Given the description of an element on the screen output the (x, y) to click on. 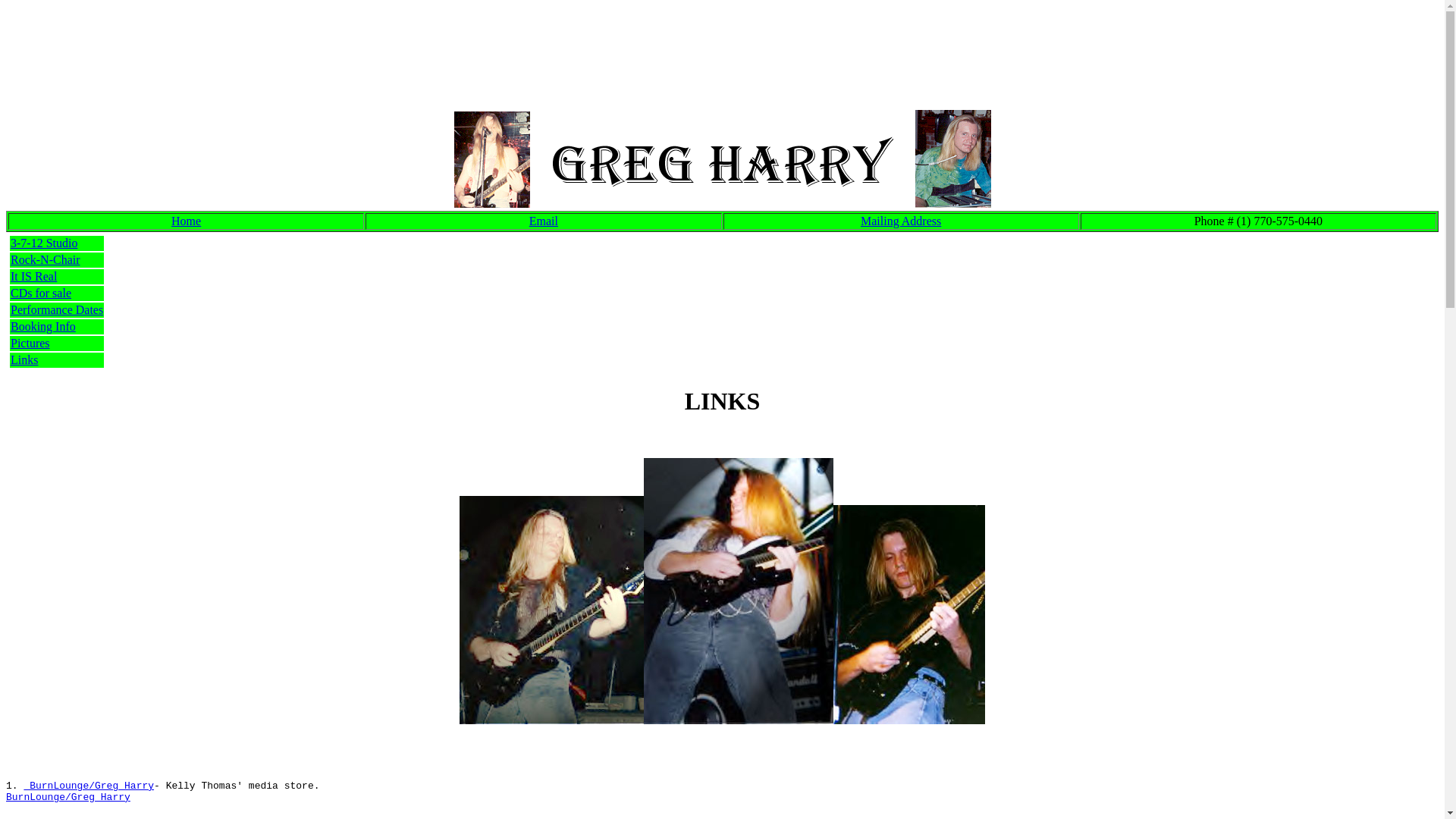
BurnLounge/Greg Harry Element type: text (68, 797)
Mailing Address Element type: text (900, 220)
Pictures Element type: text (30, 342)
Links Element type: text (23, 359)
Performance Dates Element type: text (56, 309)
3-7-12 Studio Element type: text (43, 242)
Home Element type: text (185, 220)
Email Element type: text (543, 220)
Booking Info Element type: text (42, 326)
Rock-N-Chair Element type: text (45, 259)
It IS Real Element type: text (33, 275)
 BurnLounge/Greg Harry Element type: text (88, 785)
CDs for sale Element type: text (40, 292)
